Given the description of an element on the screen output the (x, y) to click on. 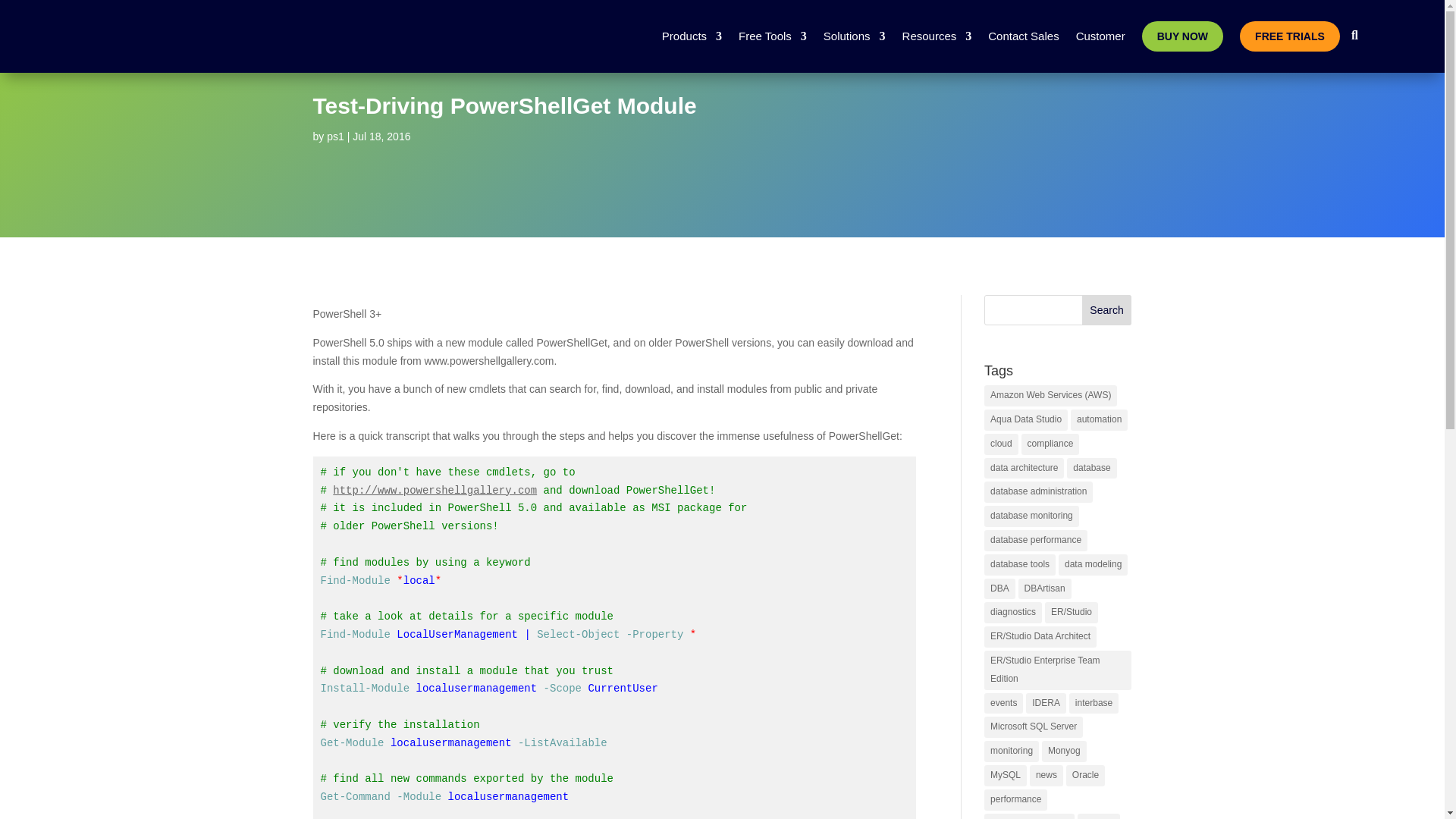
Posts by ps1 (334, 136)
Free Tools (772, 36)
Search (1106, 309)
Products (692, 36)
Solutions (854, 36)
